Given the description of an element on the screen output the (x, y) to click on. 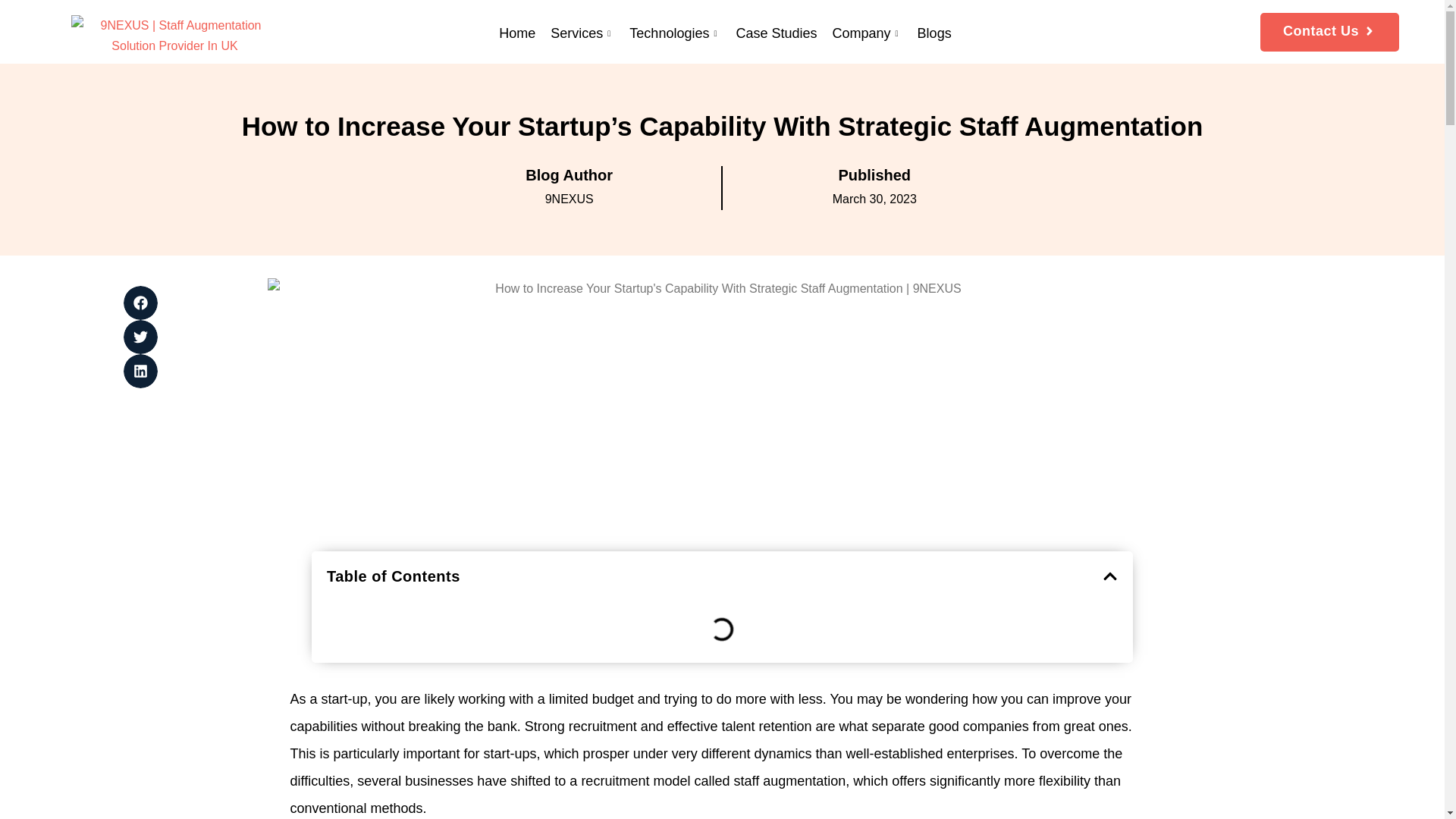
Services (582, 31)
Technologies (674, 31)
